Given the description of an element on the screen output the (x, y) to click on. 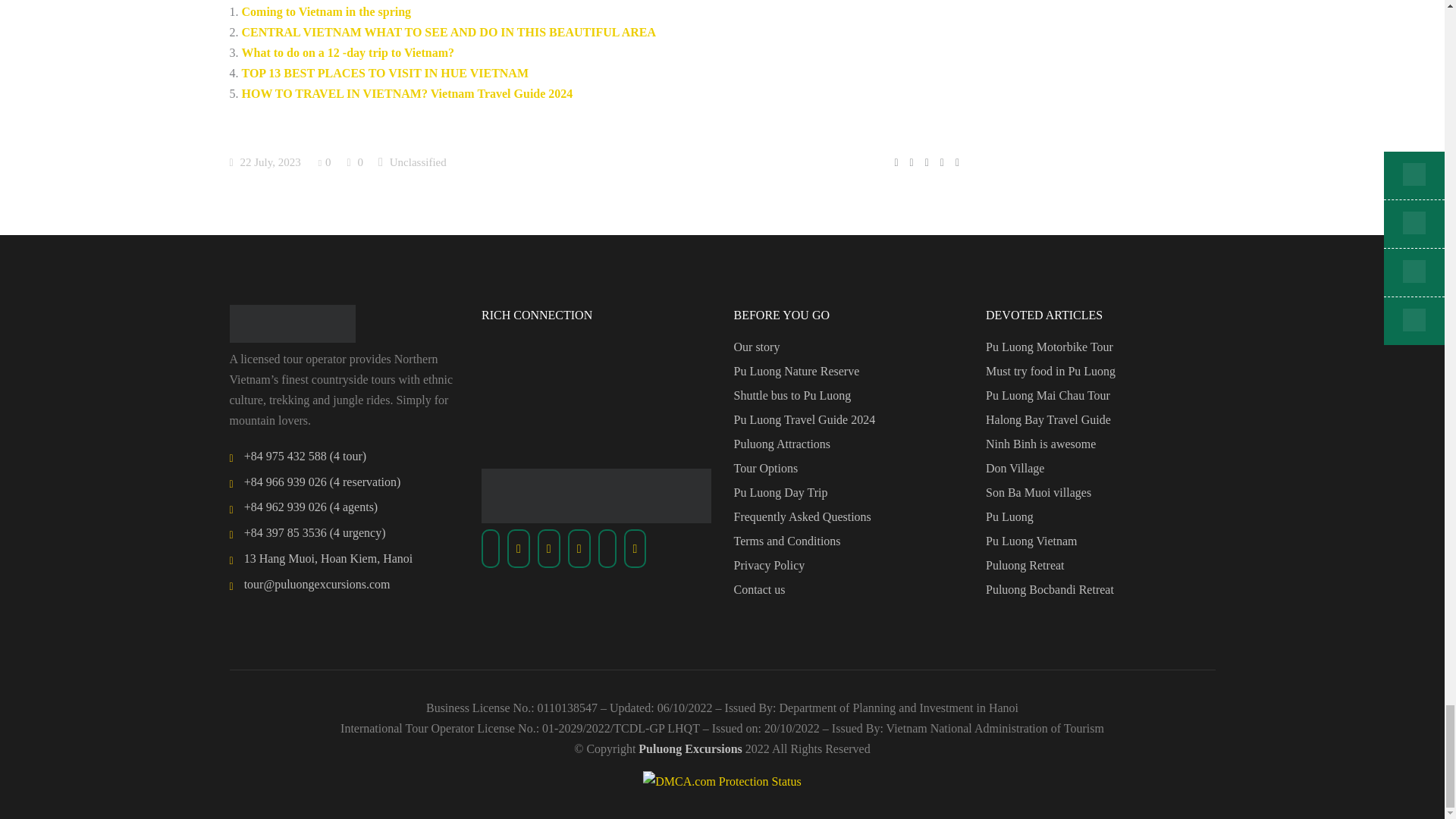
TOP 13 BEST PLACES TO VISIT IN HUE VIETNAM (384, 72)
What to do on a 12 -day trip to Vietnam? (346, 51)
HOW TO TRAVEL IN VIETNAM? Vietnam Travel Guide 2024 (406, 92)
Coming to Vietnam in the spring (325, 11)
Like this (326, 162)
DMCA.com Protection Status (721, 780)
Coming to Vietnam in the spring (325, 11)
CENTRAL VIETNAM  WHAT TO SEE AND DO IN THIS BEAUTIFUL AREA (448, 31)
What to do on a 12 -day trip to Vietnam? (346, 51)
HOW TO TRAVEL IN VIETNAM? Vietnam Travel Guide 2024 (406, 92)
